Given the description of an element on the screen output the (x, y) to click on. 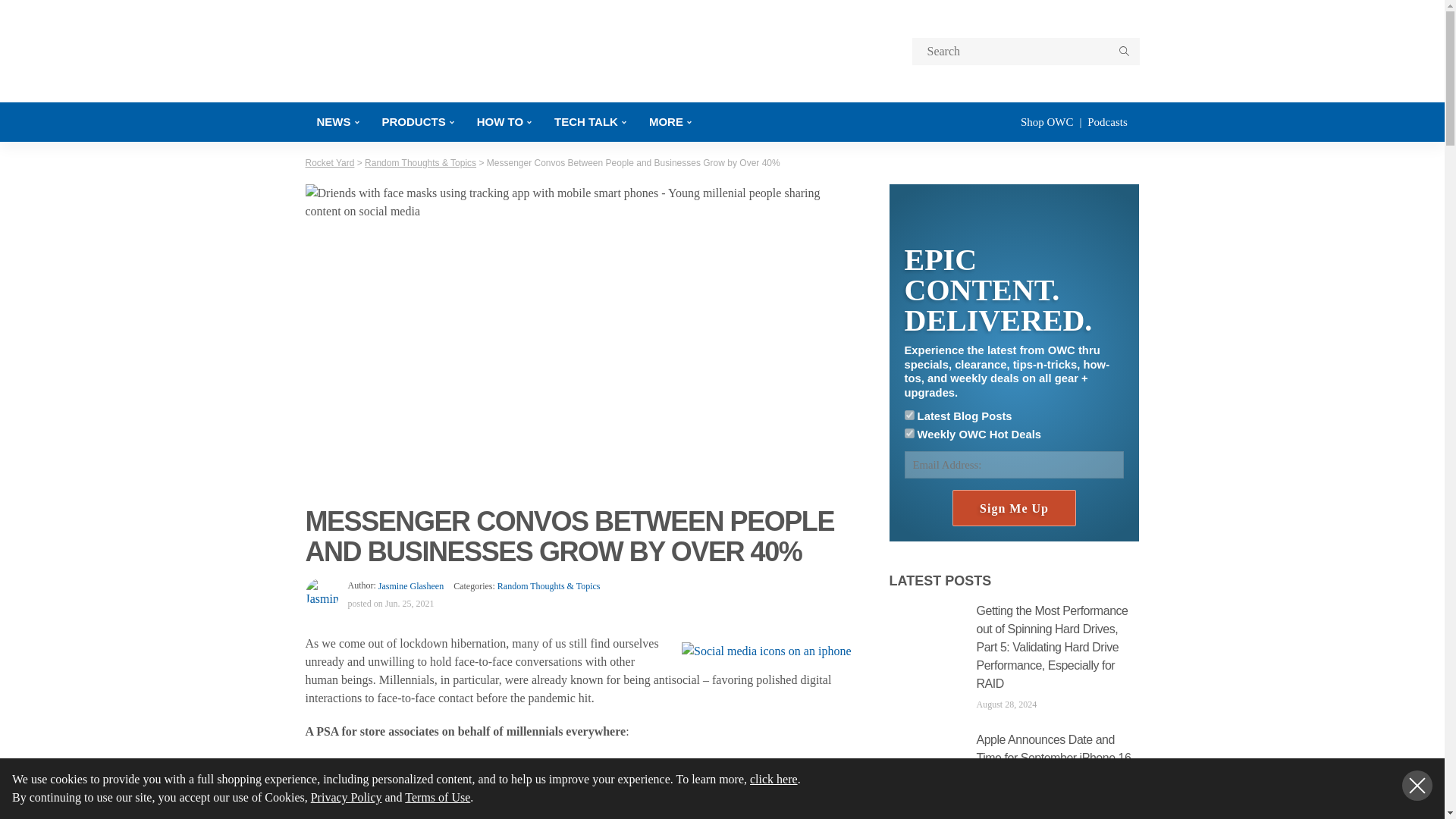
search for: (1024, 51)
0bcd03ec00000000000000000000001f995c (909, 415)
NEWS (336, 121)
Sign Me Up (1013, 507)
Go to Rocket Yard. (328, 163)
